Given the description of an element on the screen output the (x, y) to click on. 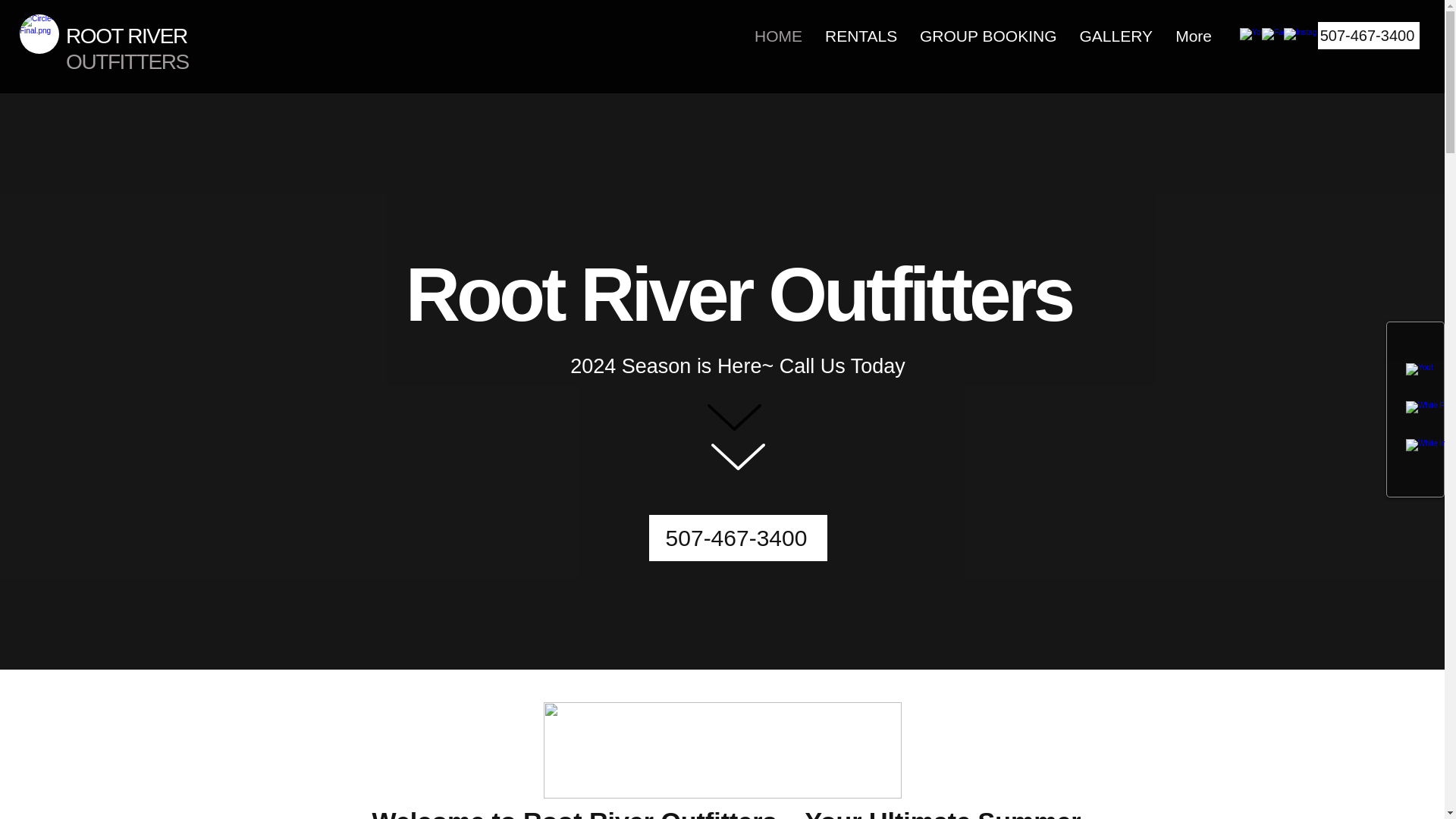
ROOT RIVER OUTFITTERS (127, 48)
507-467-3400 (1368, 35)
507-467-3400 (738, 538)
GALLERY (1115, 35)
HOME (777, 35)
RENTALS (860, 35)
8.png (722, 749)
GROUP BOOKING (987, 35)
